Given the description of an element on the screen output the (x, y) to click on. 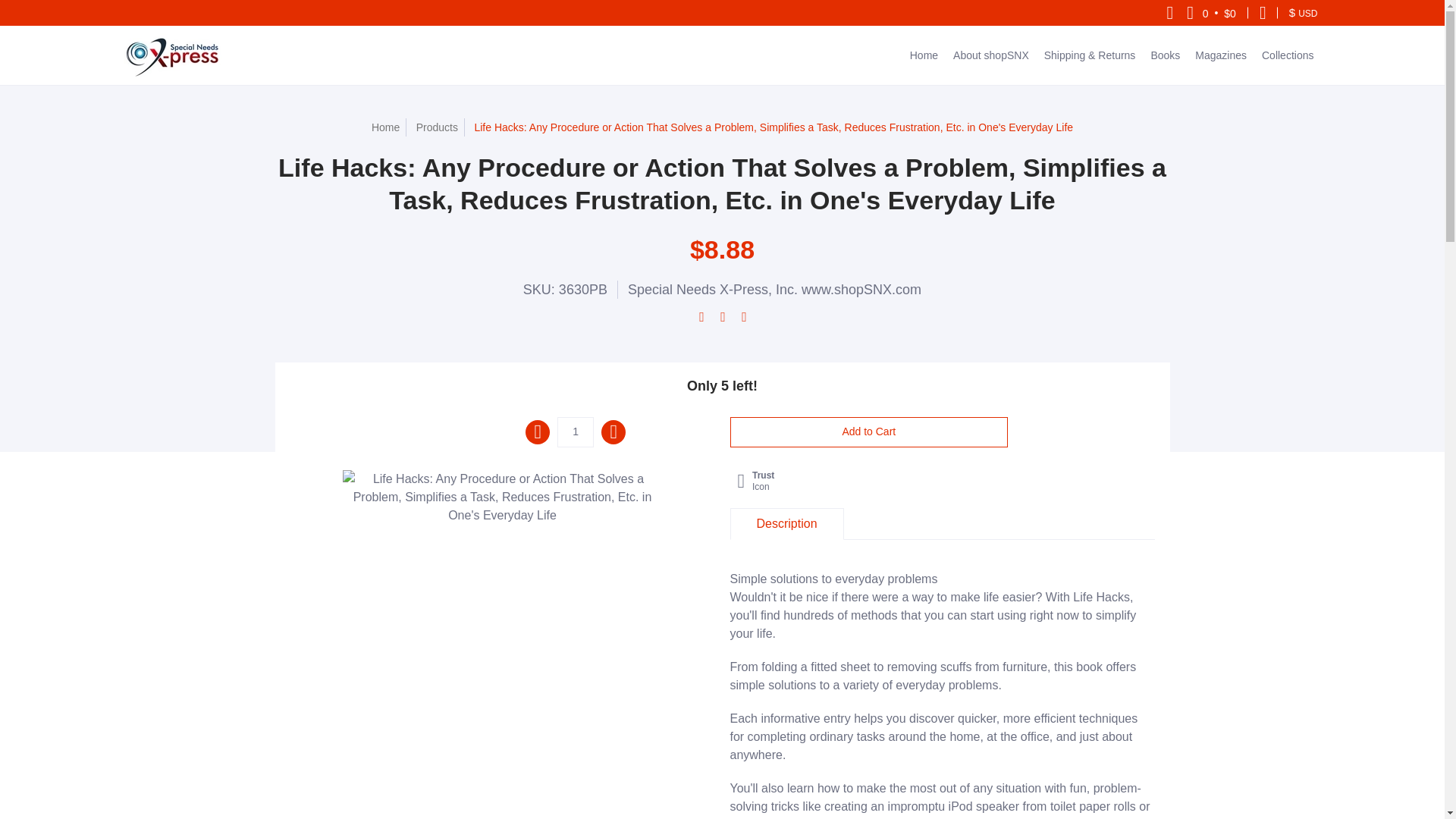
Add to Cart (868, 431)
Log in (1262, 12)
Update store currency (1303, 12)
1 (575, 431)
Cart (1210, 12)
